Given the description of an element on the screen output the (x, y) to click on. 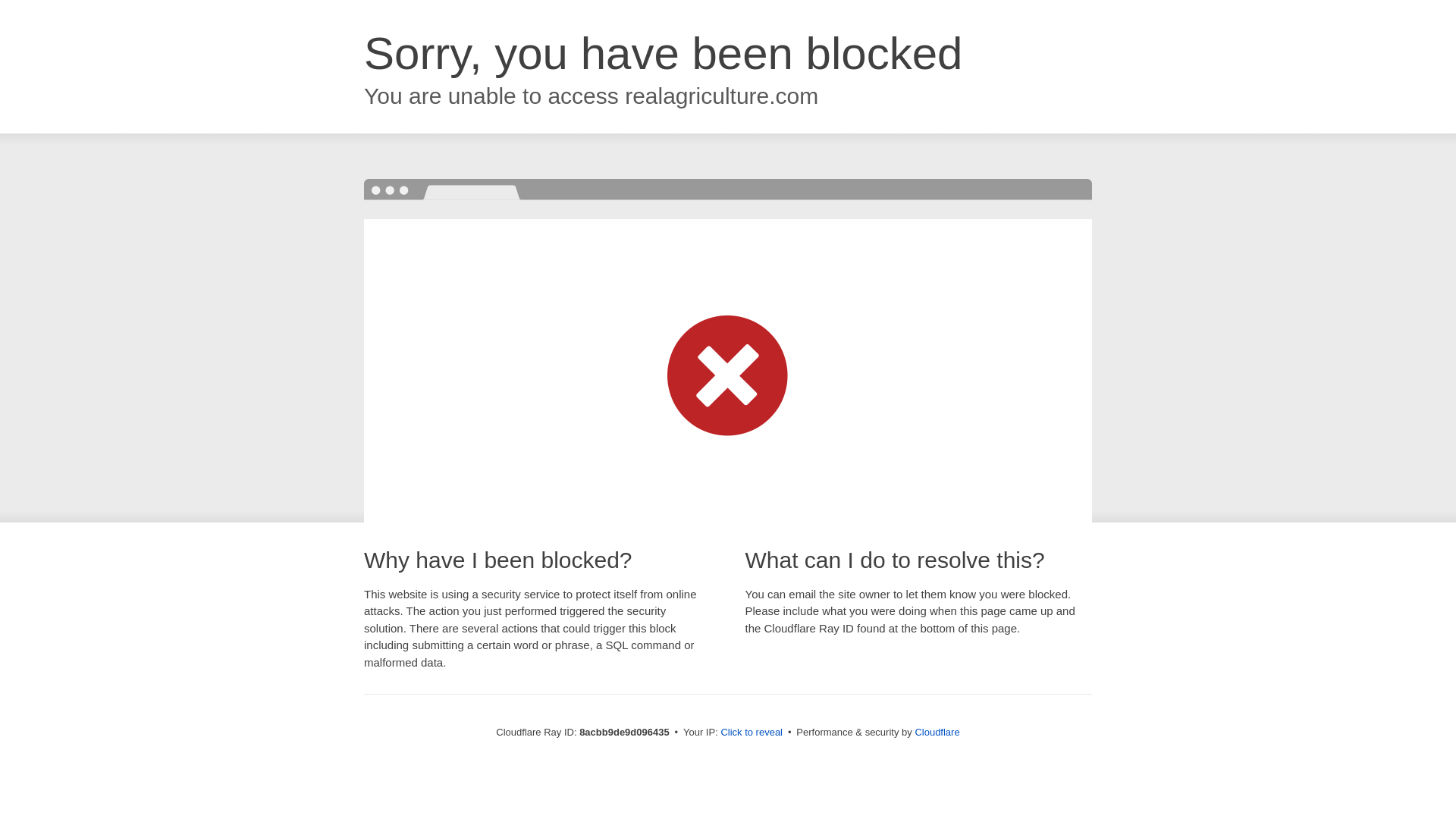
Click to reveal (751, 732)
Cloudflare (936, 731)
